Given the description of an element on the screen output the (x, y) to click on. 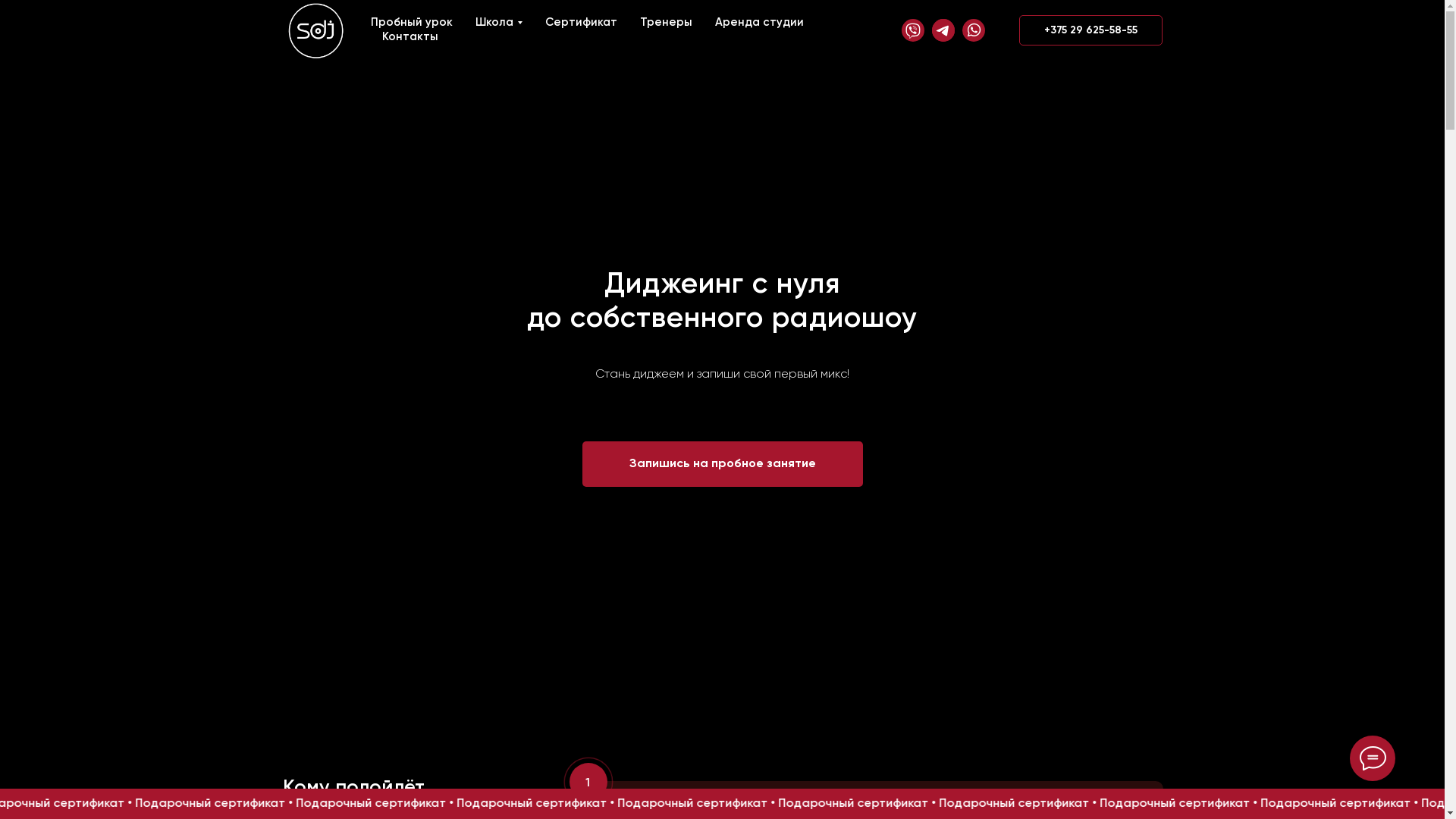
+375 29 625-58-55 Element type: text (1090, 30)
